Given the description of an element on the screen output the (x, y) to click on. 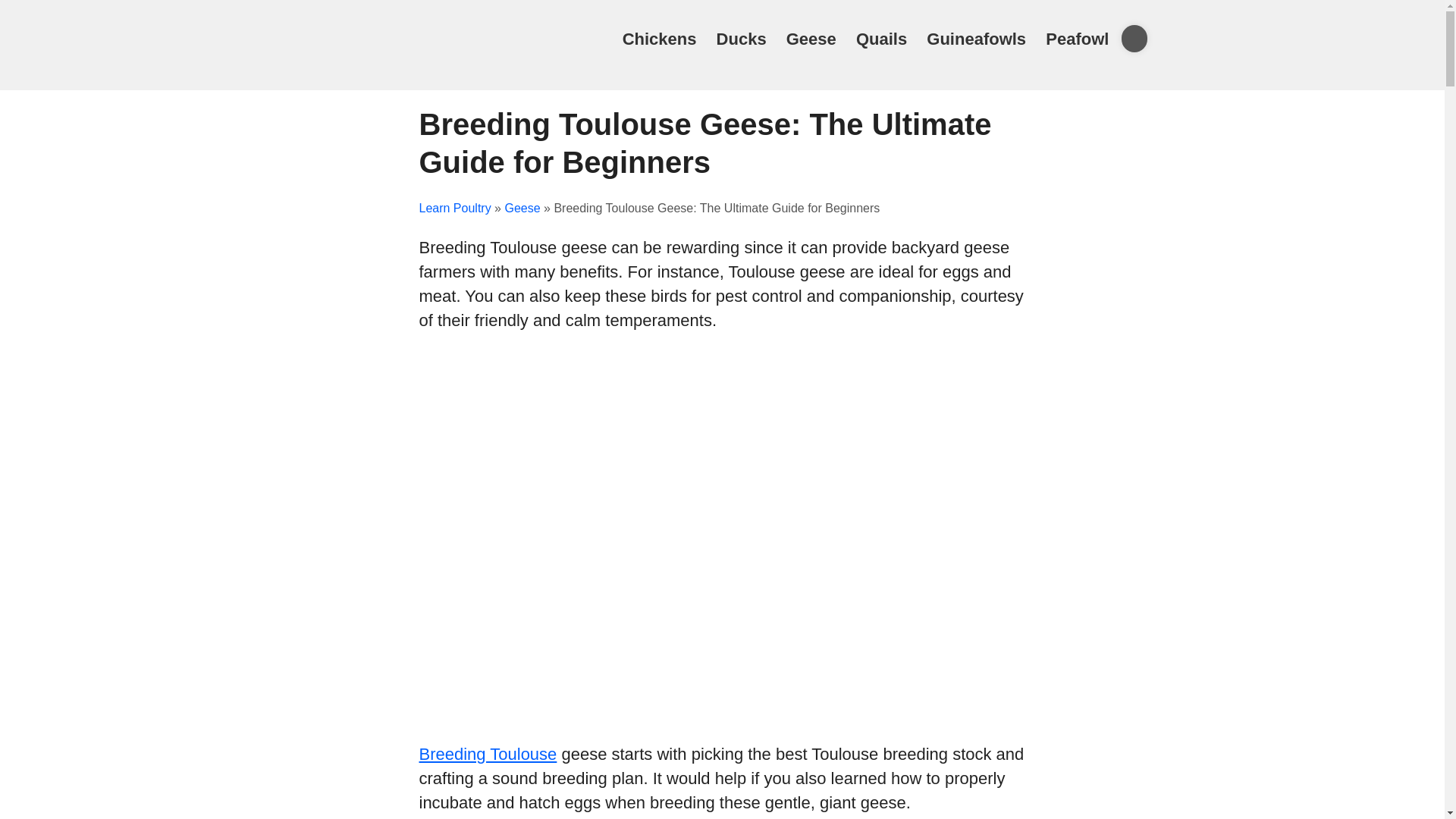
Chickens (660, 38)
Peafowl (1076, 38)
Breeding Toulouse (487, 753)
Learn Poultry (454, 207)
Ducks (741, 38)
Geese (521, 207)
Geese (810, 38)
Guineafowls (976, 38)
Learn Poultry (384, 62)
Quails (881, 38)
